Given the description of an element on the screen output the (x, y) to click on. 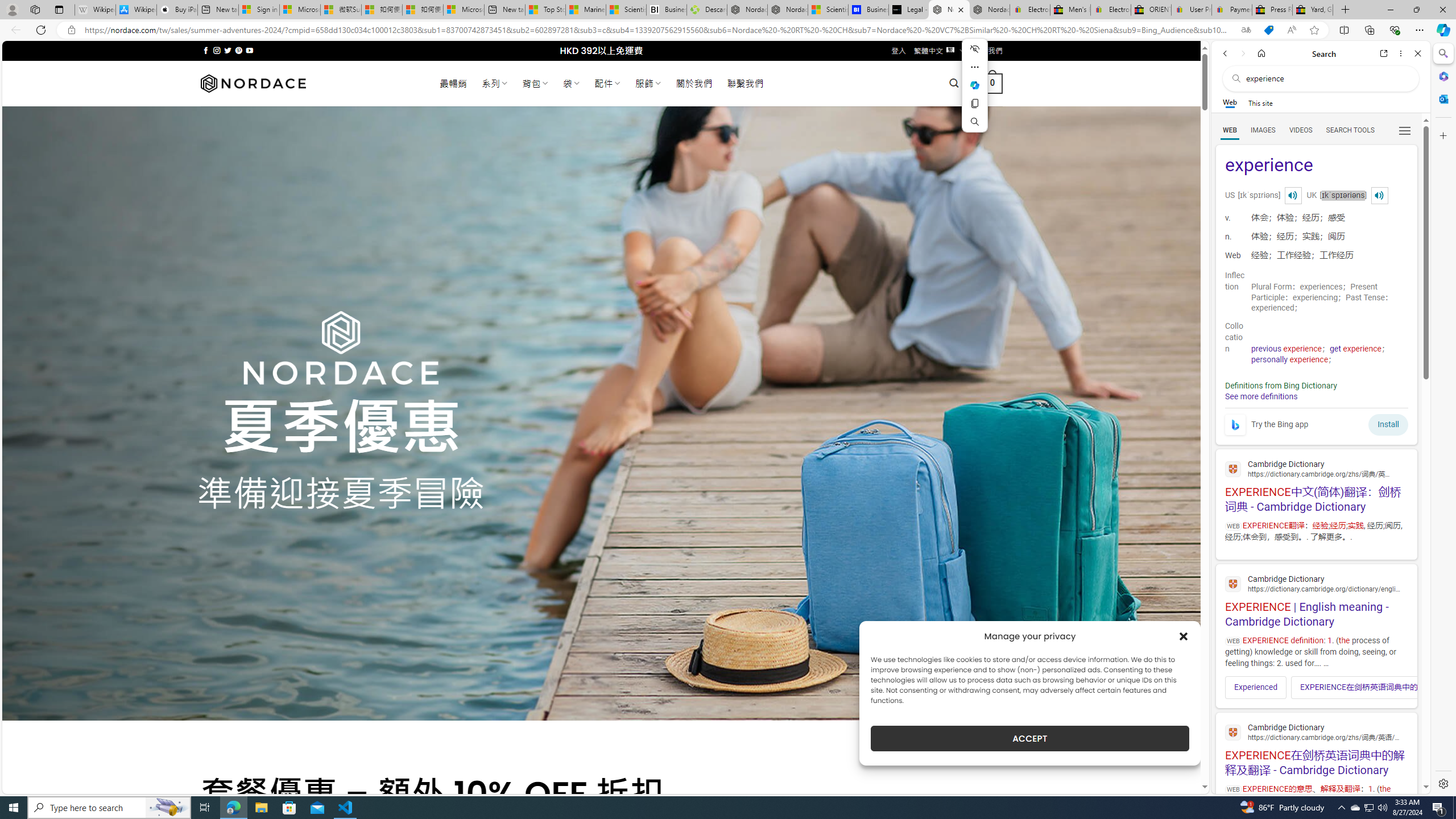
Try the Bing app Install (1315, 421)
Experienced (1256, 687)
Hide menu (974, 49)
get experience (1355, 348)
More actions (974, 67)
Experienced (1255, 687)
